Given the description of an element on the screen output the (x, y) to click on. 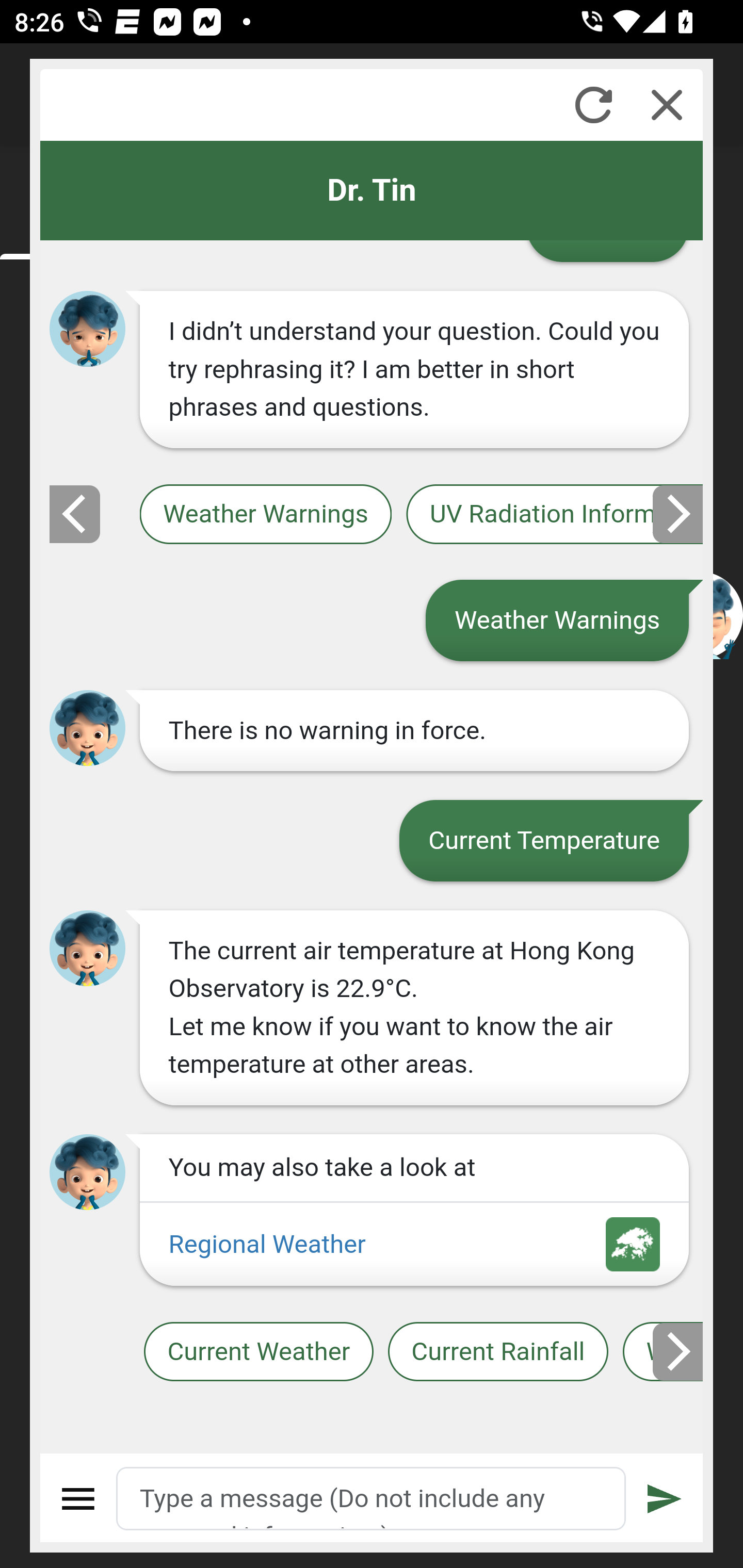
Refresh (593, 104)
Close (666, 104)
Previous slide (74, 513)
Weather Warnings (264, 514)
UV Radiation Information (554, 514)
Next slide (678, 513)
Regional Weather (413, 1244)
Current Weather (257, 1351)
Current Rainfall (497, 1351)
Next slide (678, 1351)
Menu (78, 1498)
Submit (665, 1498)
